Given the description of an element on the screen output the (x, y) to click on. 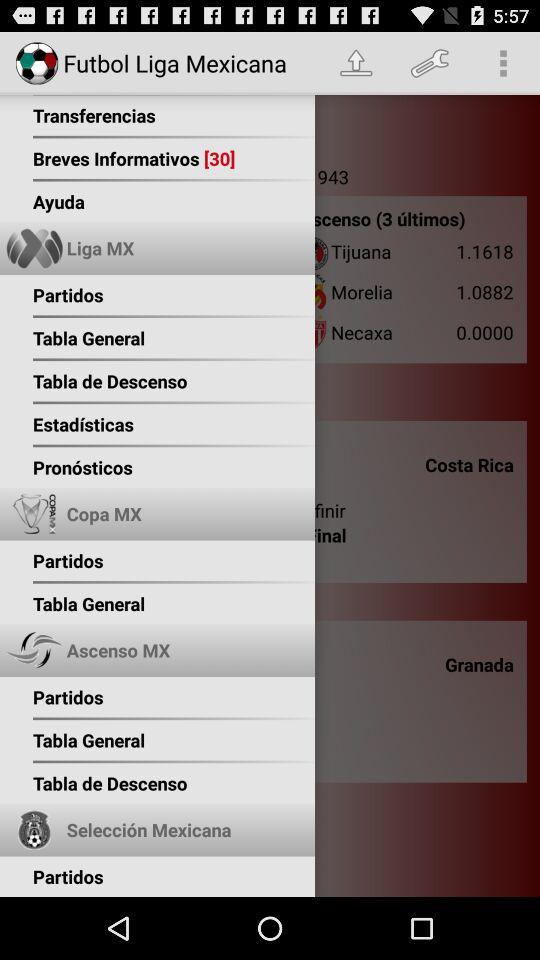
select the second row text tabla which is under the liga mx (52, 332)
select settings icon at the top of the page (430, 63)
